Given the description of an element on the screen output the (x, y) to click on. 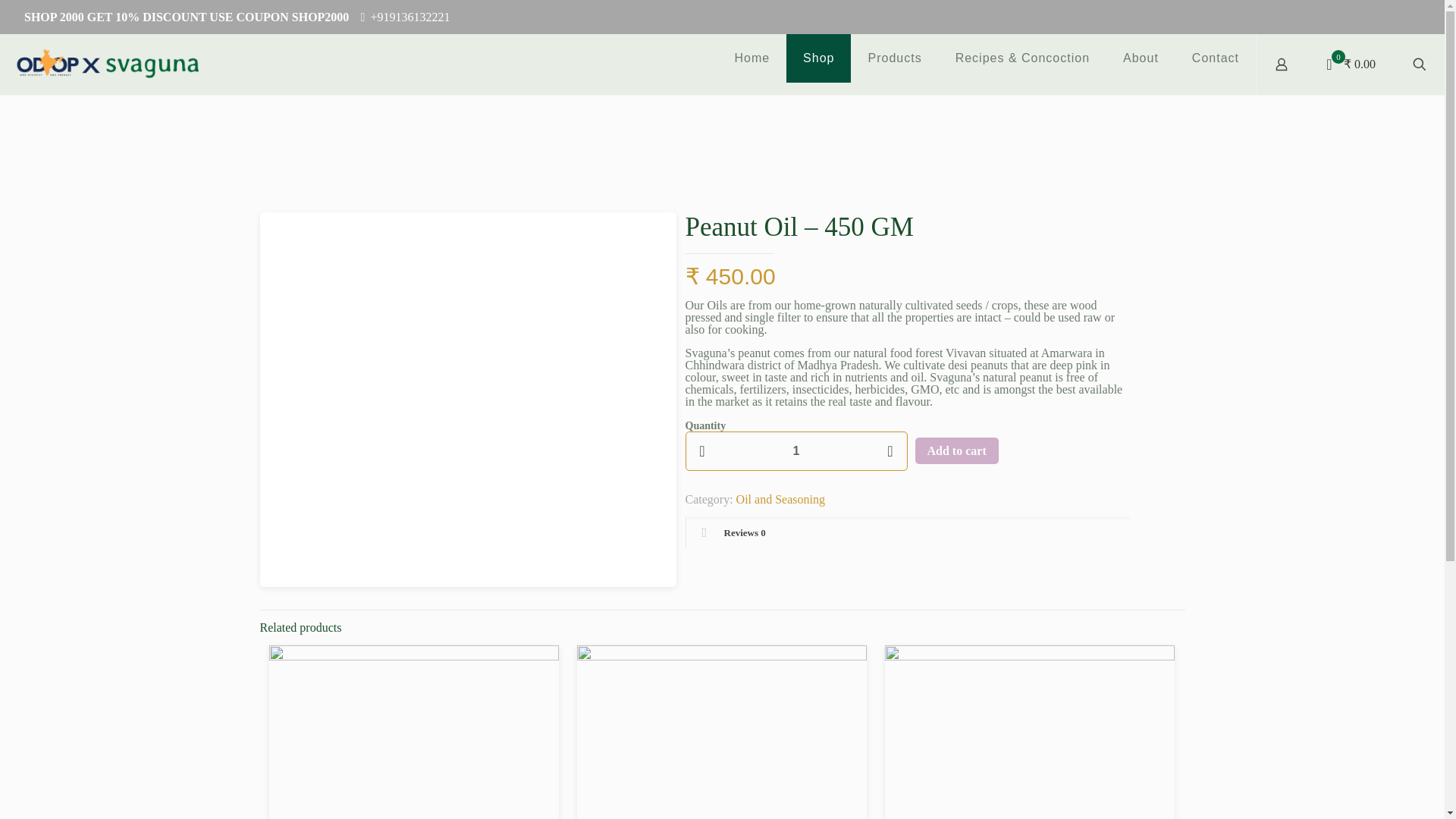
Contact (1214, 58)
1 (796, 450)
Svaguna (106, 64)
Home (751, 58)
Shop (818, 58)
About (1140, 58)
Qty (796, 450)
Products (893, 58)
